Given the description of an element on the screen output the (x, y) to click on. 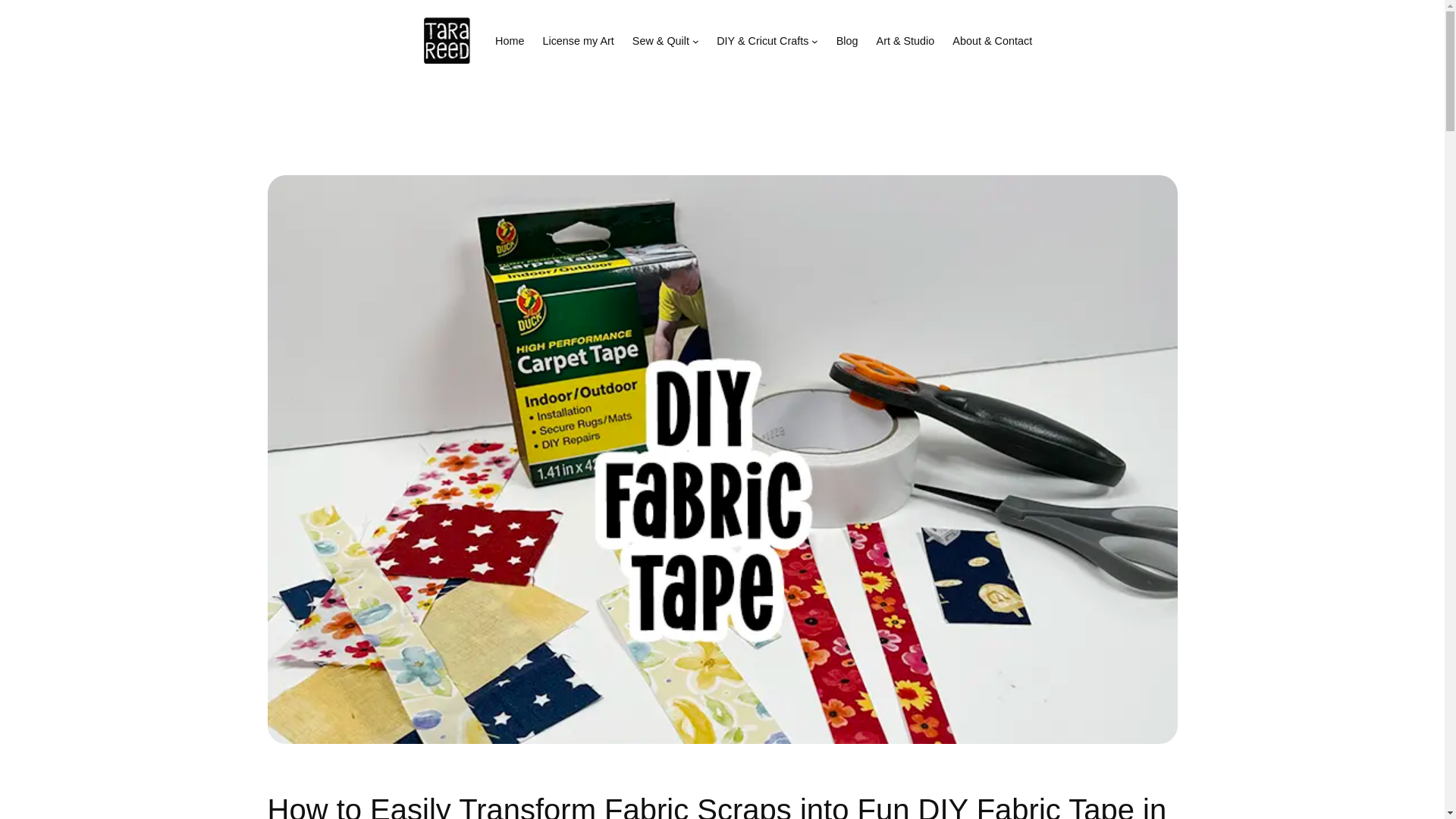
Home (509, 40)
Blog (847, 40)
License my Art (576, 40)
